Given the description of an element on the screen output the (x, y) to click on. 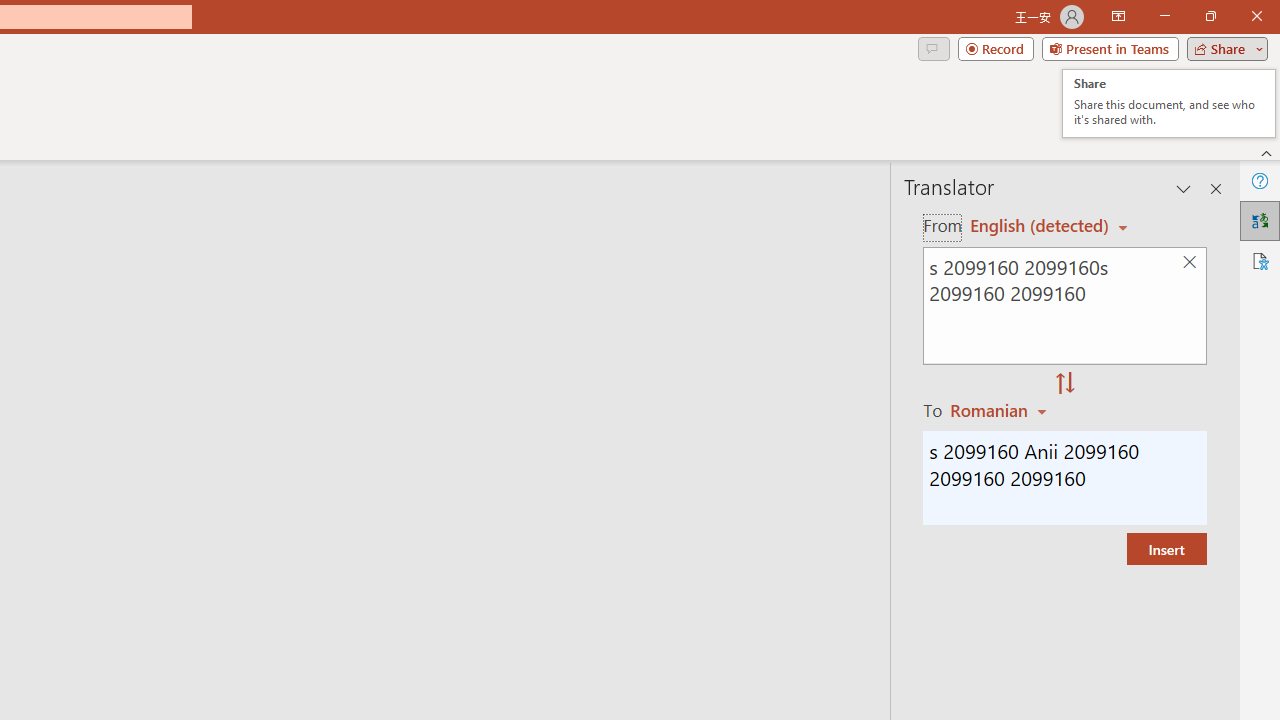
Clear text (1189, 262)
